Given the description of an element on the screen output the (x, y) to click on. 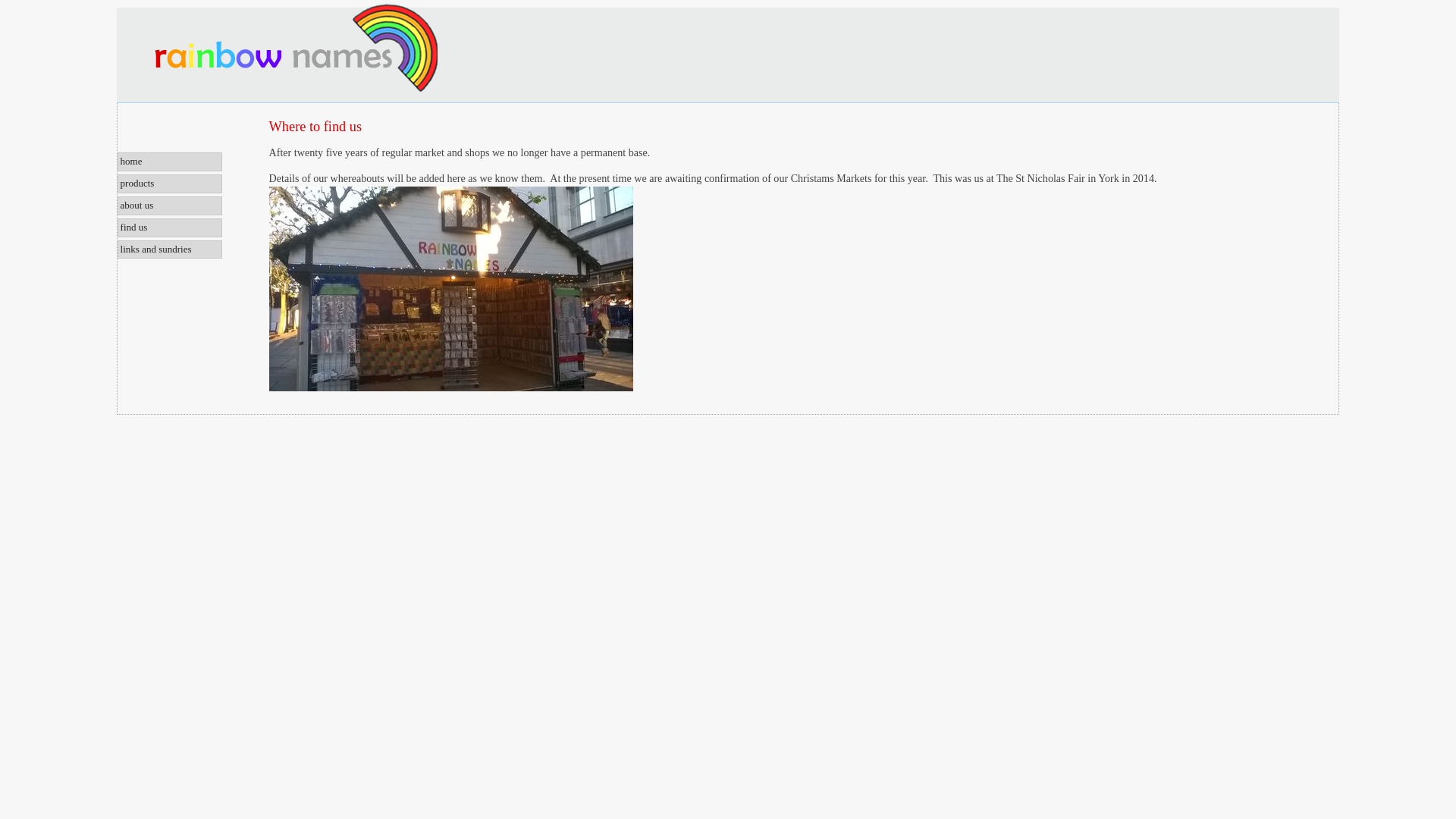
products (169, 183)
find us (169, 227)
links and sundries (169, 249)
home (169, 161)
about us (169, 205)
